Given the description of an element on the screen output the (x, y) to click on. 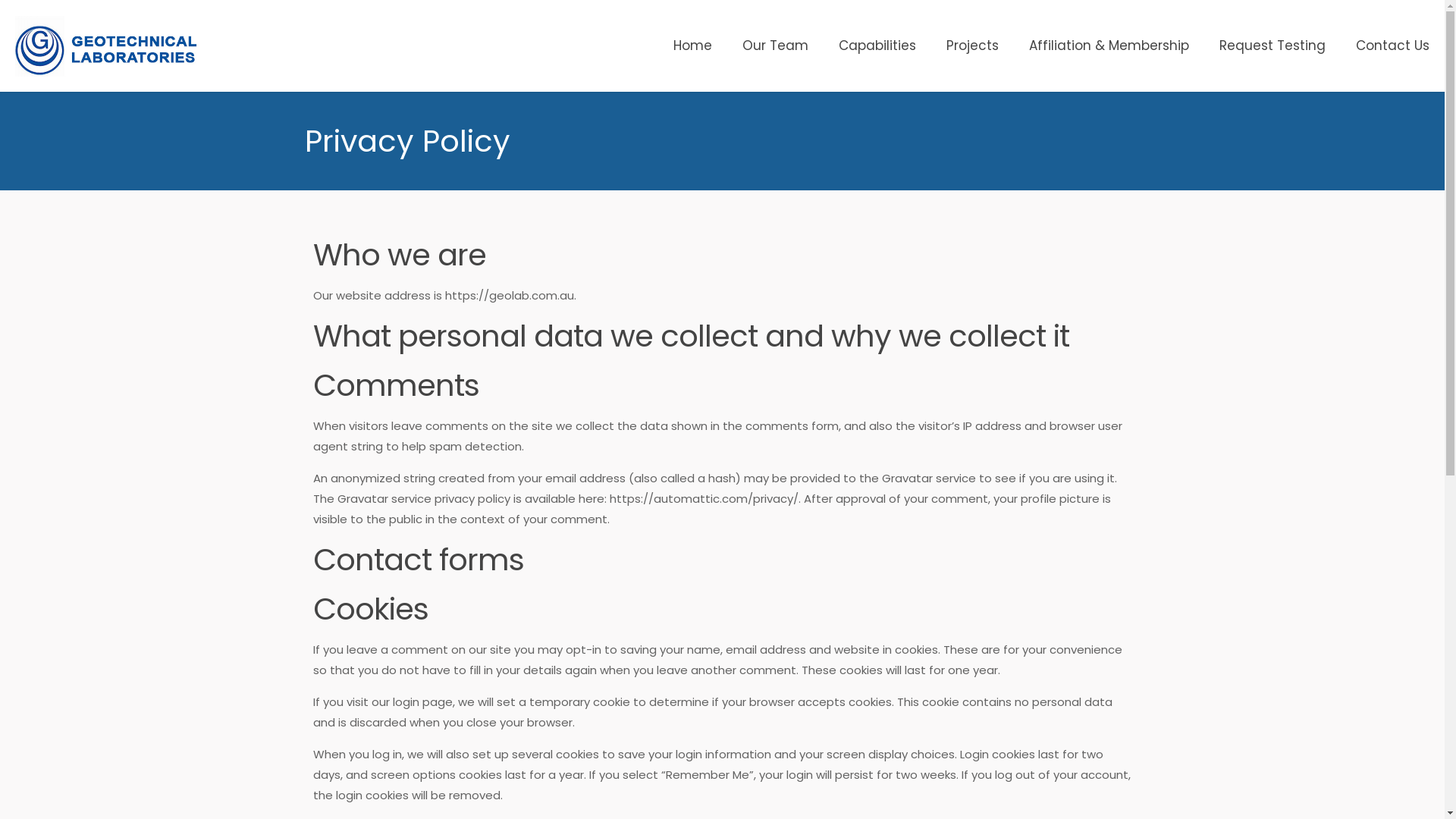
Request Testing Element type: text (1272, 45)
Our Team Element type: text (775, 45)
Affiliation & Membership Element type: text (1108, 45)
Geotechnical Laboratories Element type: hover (106, 45)
Projects Element type: text (972, 45)
Home Element type: text (692, 45)
Contact Us Element type: text (1392, 45)
Capabilities Element type: text (877, 45)
